Given the description of an element on the screen output the (x, y) to click on. 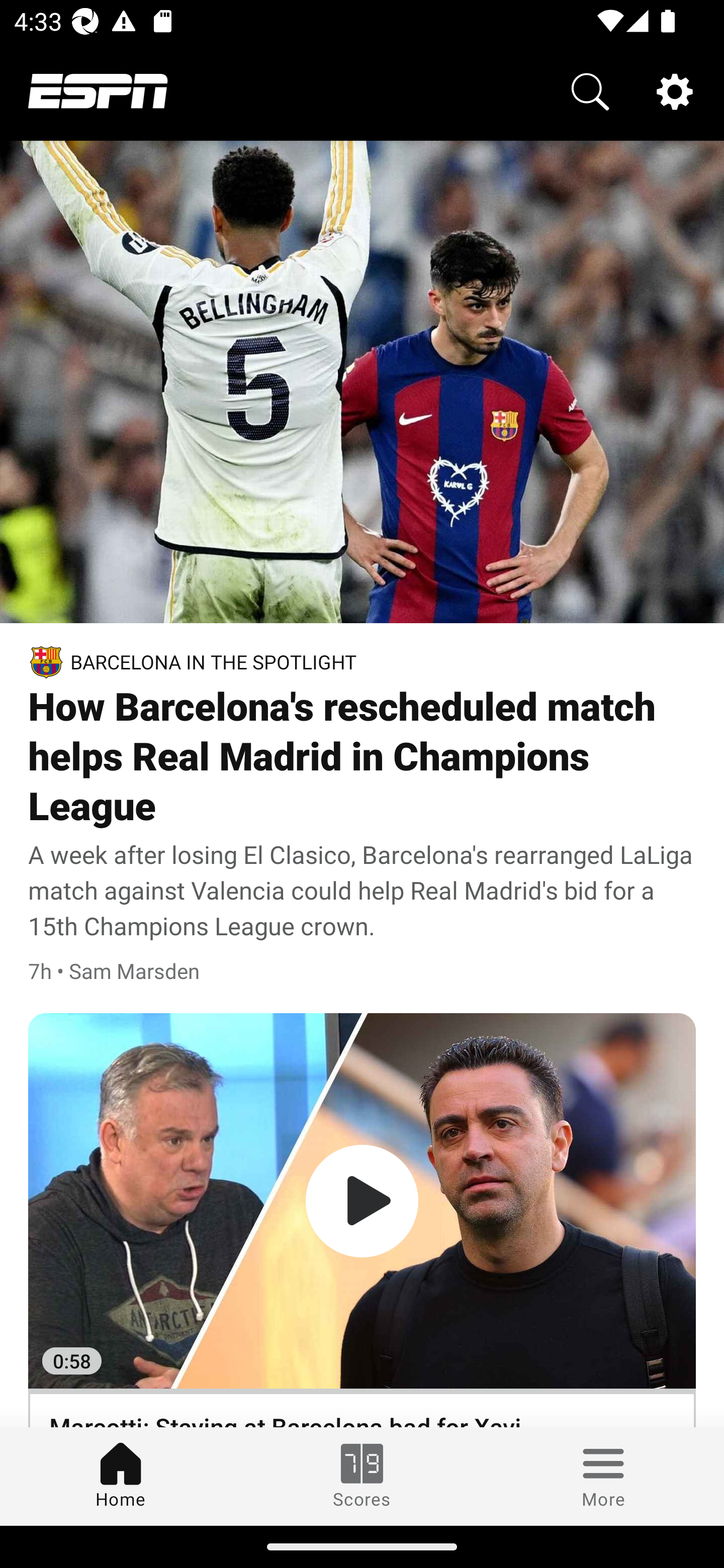
Search (590, 90)
Settings (674, 90)
 0:58 Marcotti: Staying at Barcelona bad for Xavi (361, 1219)
Scores (361, 1475)
More (603, 1475)
